Given the description of an element on the screen output the (x, y) to click on. 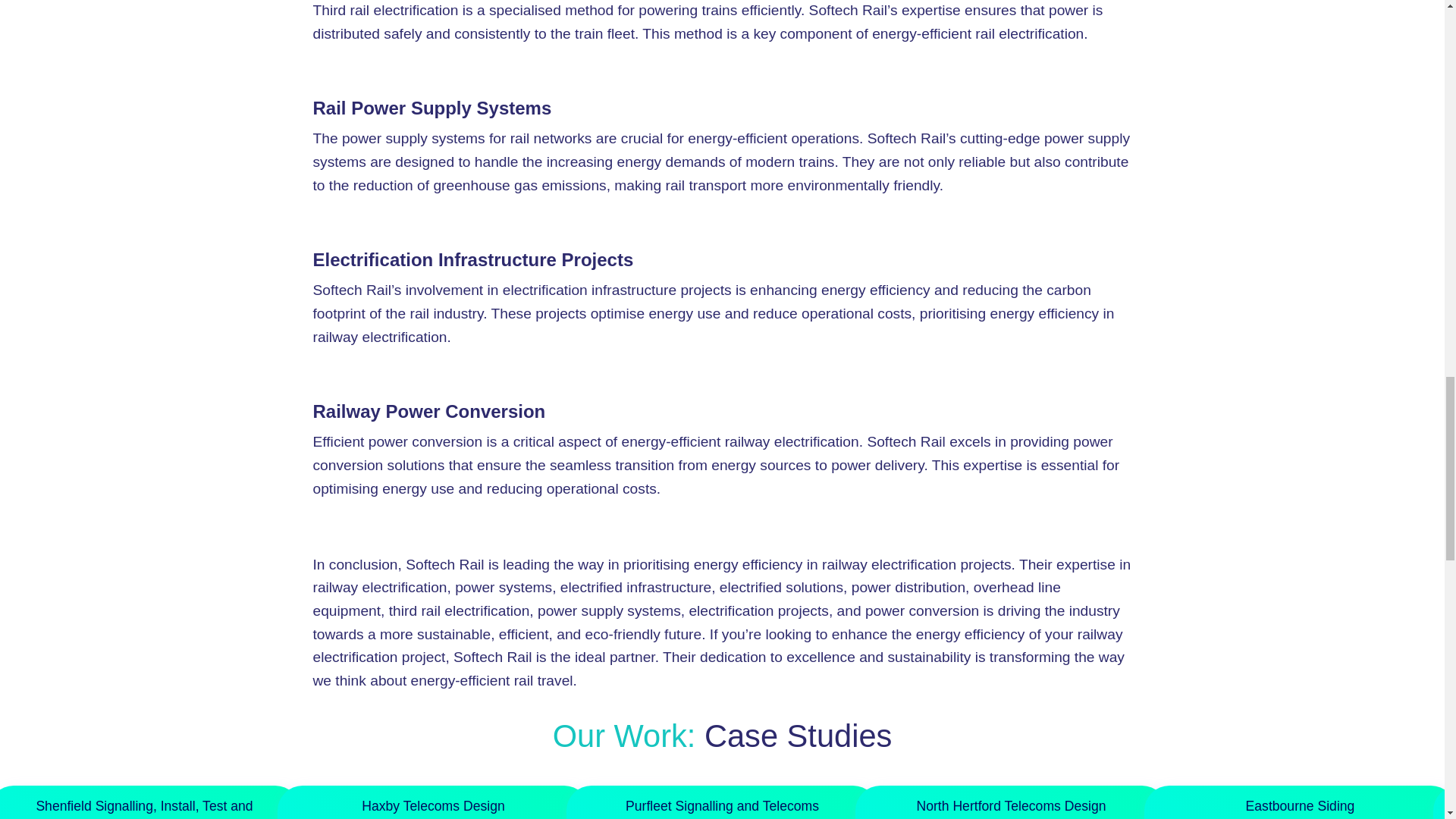
Eastbourne Siding (1300, 806)
Haxby Telecoms Design (432, 806)
Shenfield Signalling, Install, Test and Commissioning (142, 808)
North Hertford Telecoms Design (1010, 806)
Purfleet Signalling and Telecoms (722, 806)
